Given the description of an element on the screen output the (x, y) to click on. 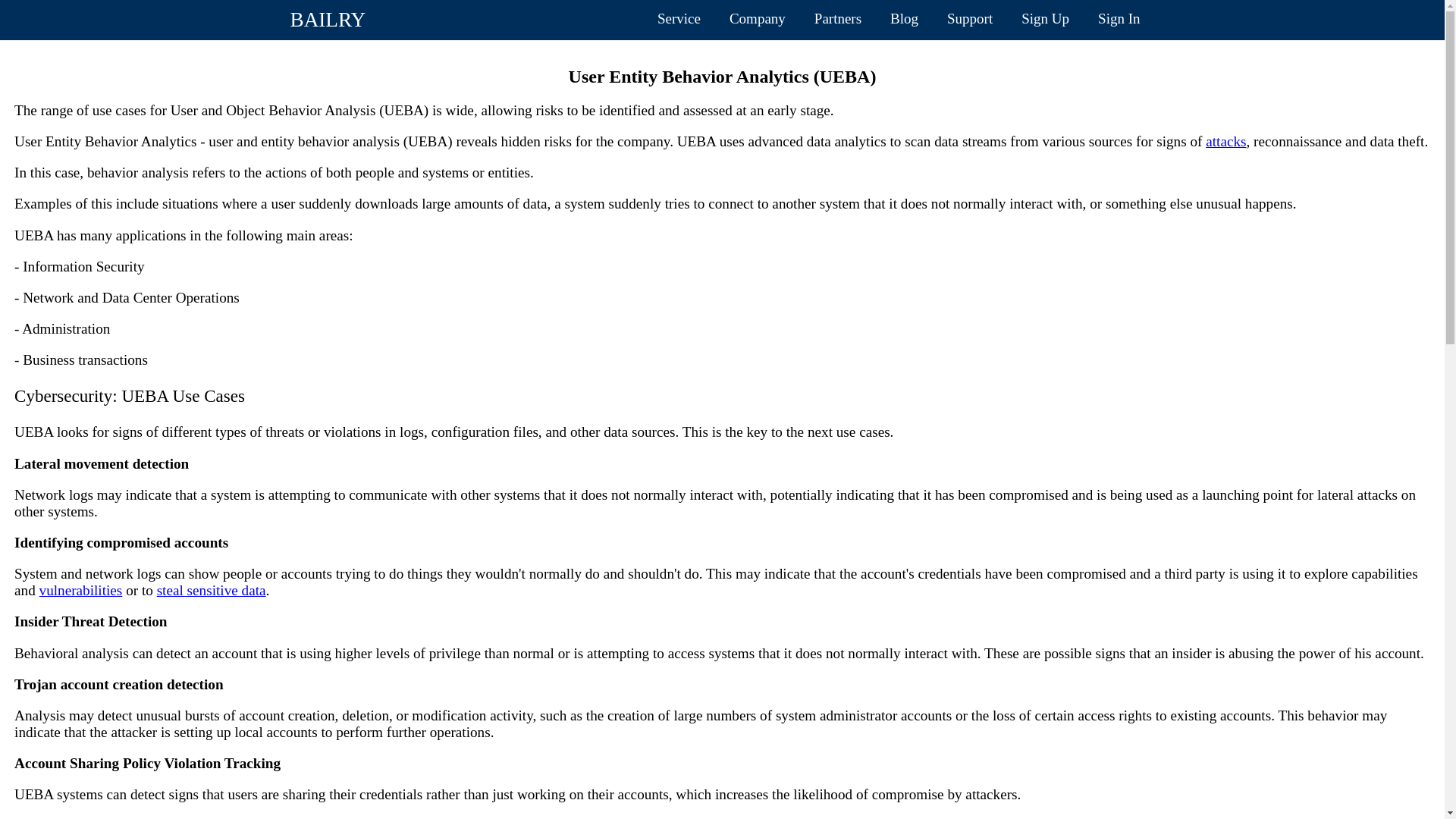
Sign Up (1045, 18)
Service (678, 18)
Support (970, 18)
Partners (837, 18)
Blog (904, 18)
attacks (1225, 141)
steal sensitive data (211, 590)
Company (756, 18)
BAILRY (327, 20)
Sign In (1118, 18)
